Given the description of an element on the screen output the (x, y) to click on. 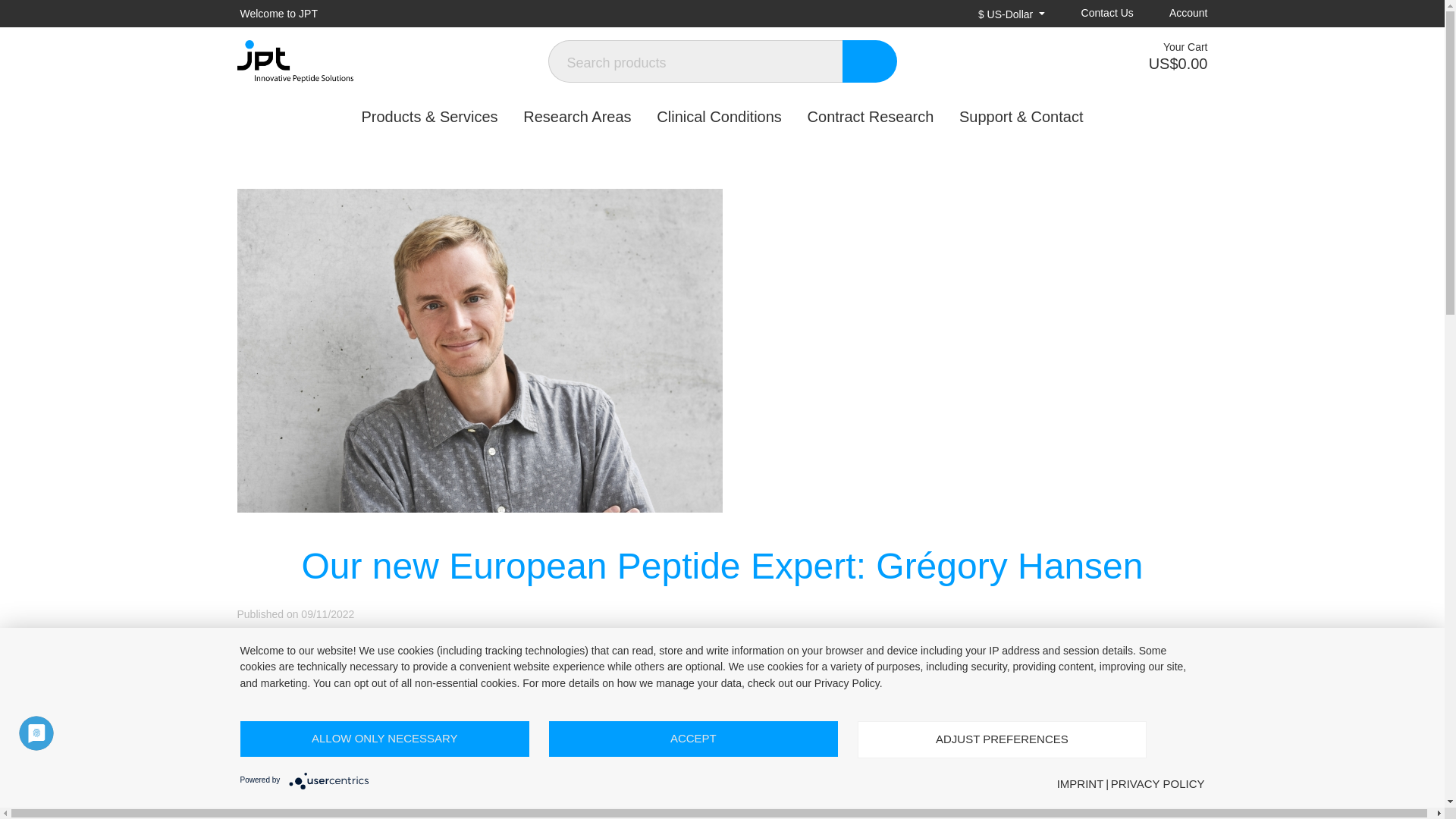
Clinical Conditions (718, 116)
Login (1176, 13)
Go to homepage (391, 61)
Account (1176, 13)
Contact Us (1095, 13)
Research Areas (576, 116)
Wishlist (1081, 61)
Contact Us (1095, 13)
Contract Research (871, 116)
